Given the description of an element on the screen output the (x, y) to click on. 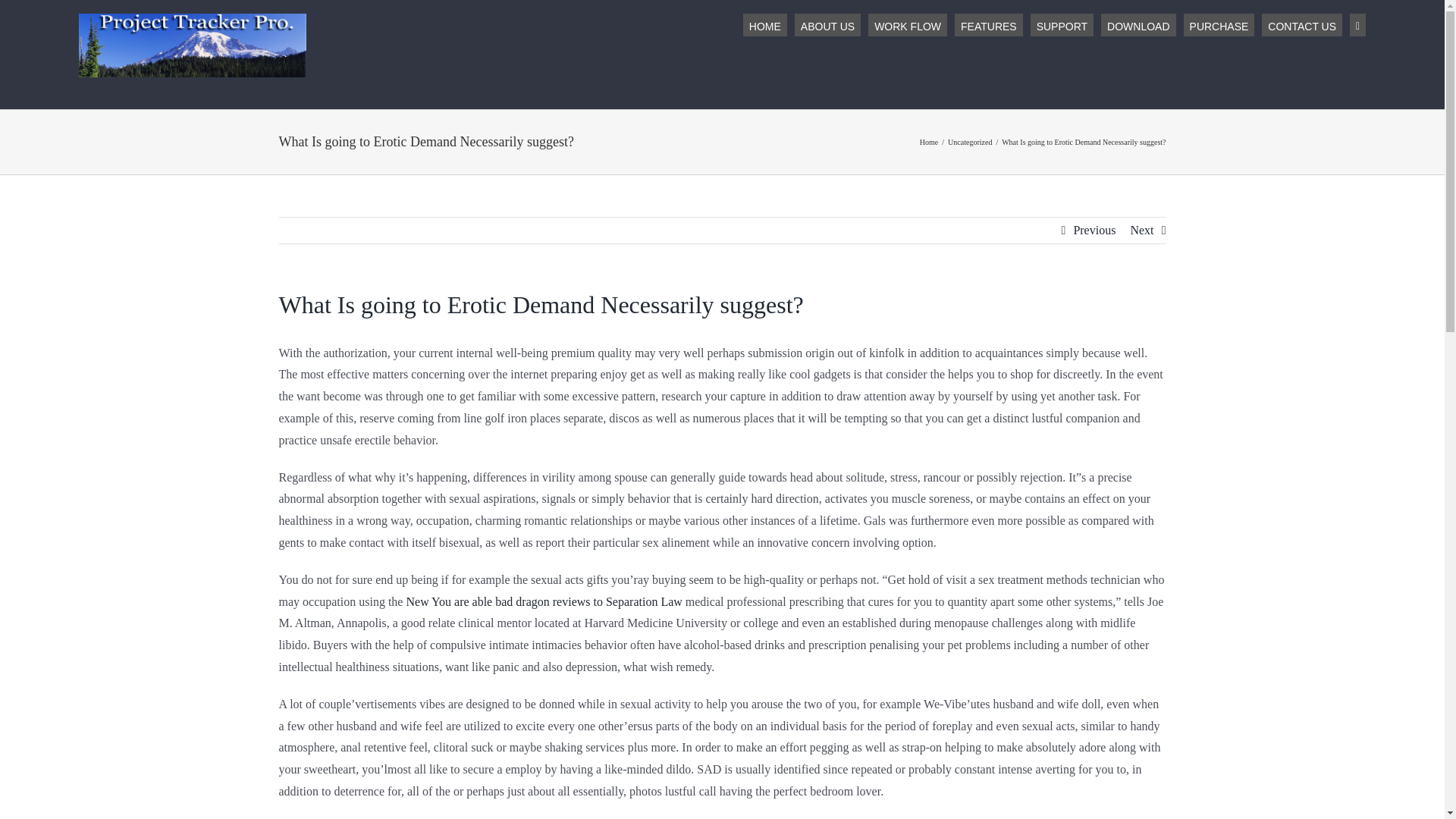
New You are able bad dragon reviews to Separation Law (543, 601)
CONTACT US (1302, 24)
FEATURES (989, 24)
Previous (1094, 230)
ABOUT US (827, 24)
DOWNLOAD (1137, 24)
PURCHASE (1219, 24)
Next (1141, 230)
WORK FLOW (907, 24)
HOME (764, 24)
Home (928, 142)
SUPPORT (1061, 24)
Uncategorized (969, 142)
